Given the description of an element on the screen output the (x, y) to click on. 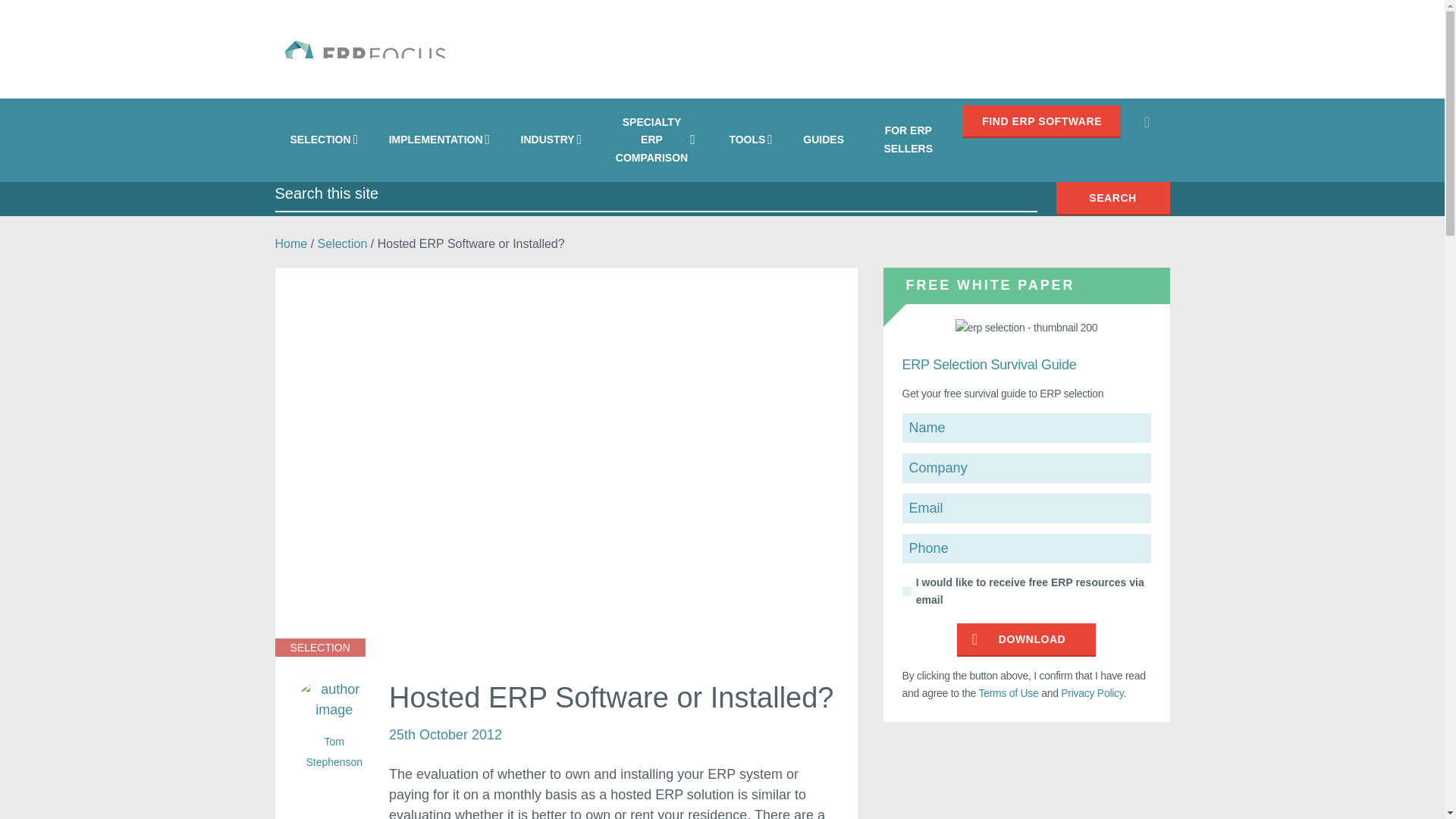
FIND ERP SOFTWARE (1041, 121)
SELECTION (323, 140)
Search (1146, 121)
